Given the description of an element on the screen output the (x, y) to click on. 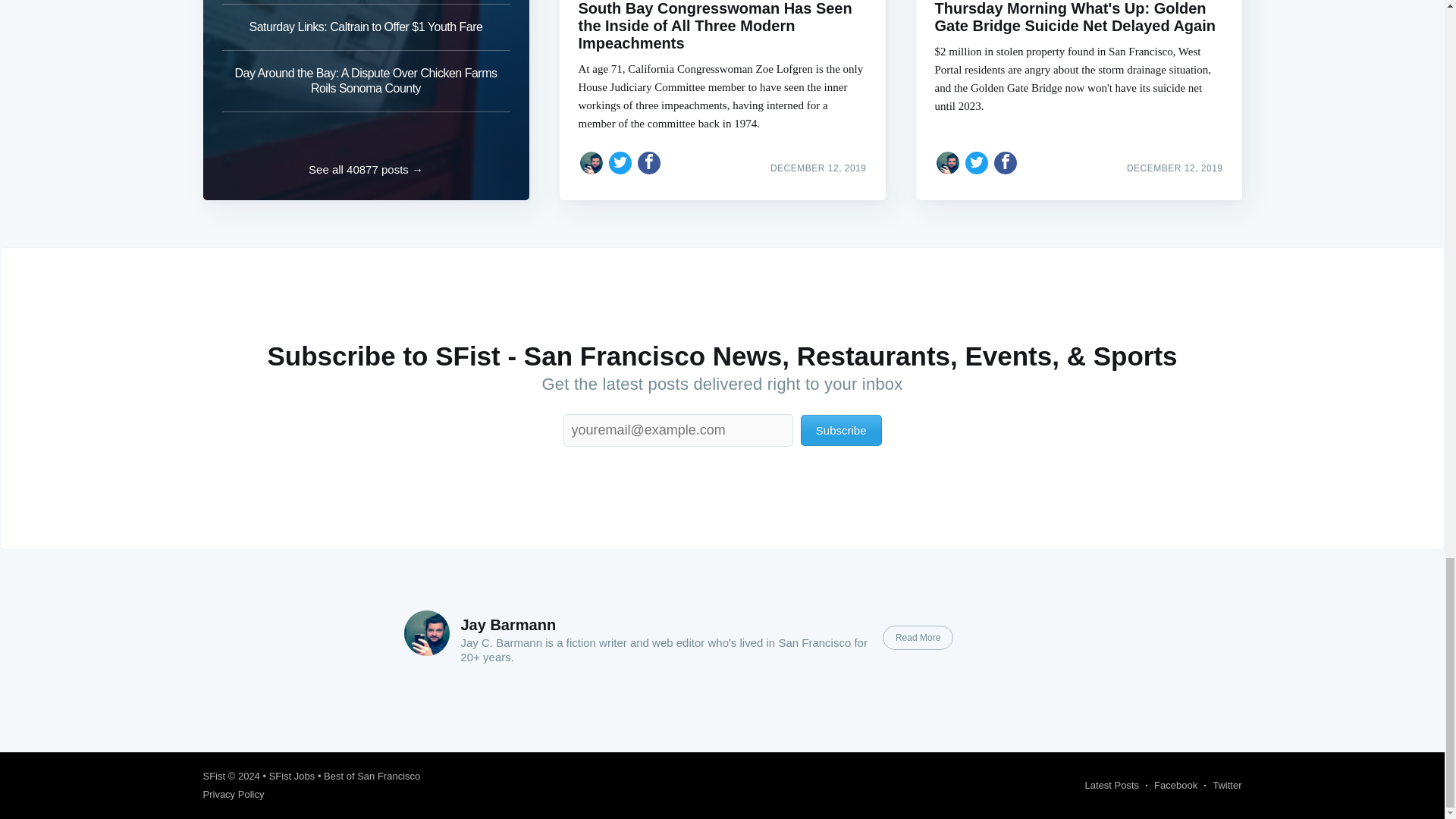
Share on Facebook (1004, 162)
Share on Facebook (649, 162)
Share on Twitter (620, 162)
Share on Twitter (976, 162)
